Given the description of an element on the screen output the (x, y) to click on. 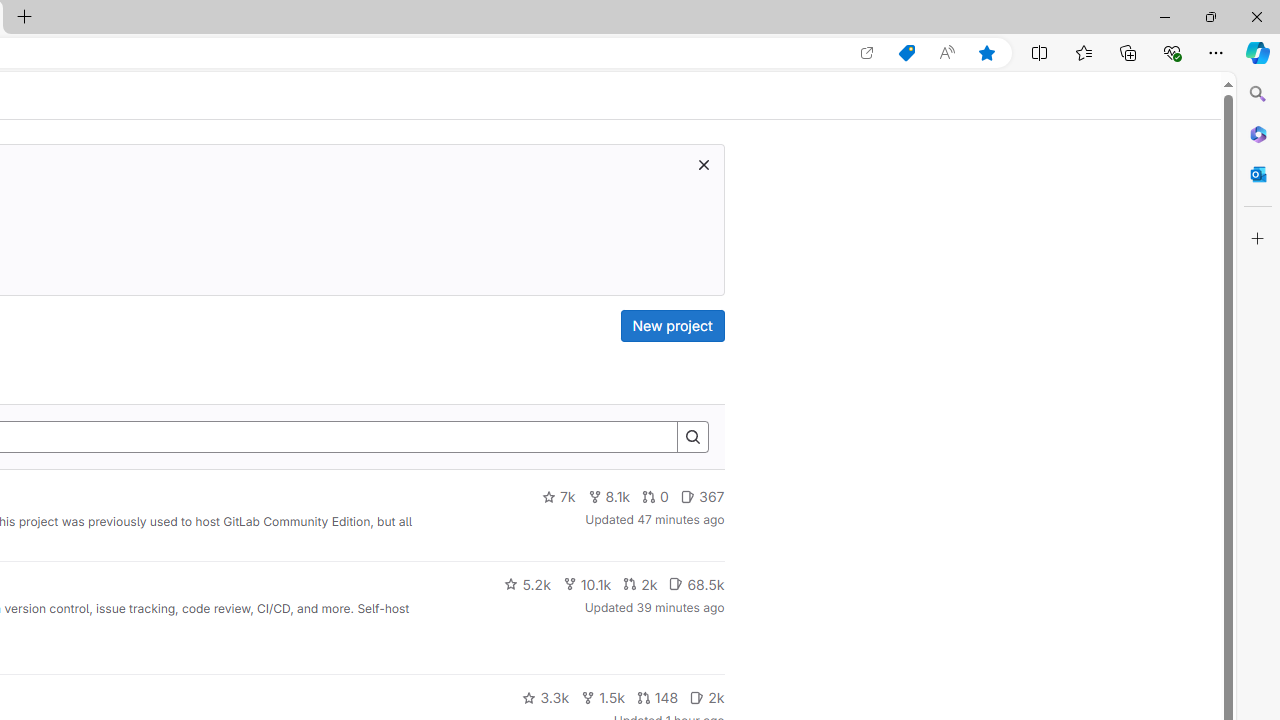
Dismiss trial promotion (703, 164)
8.1k (609, 497)
